Given the description of an element on the screen output the (x, y) to click on. 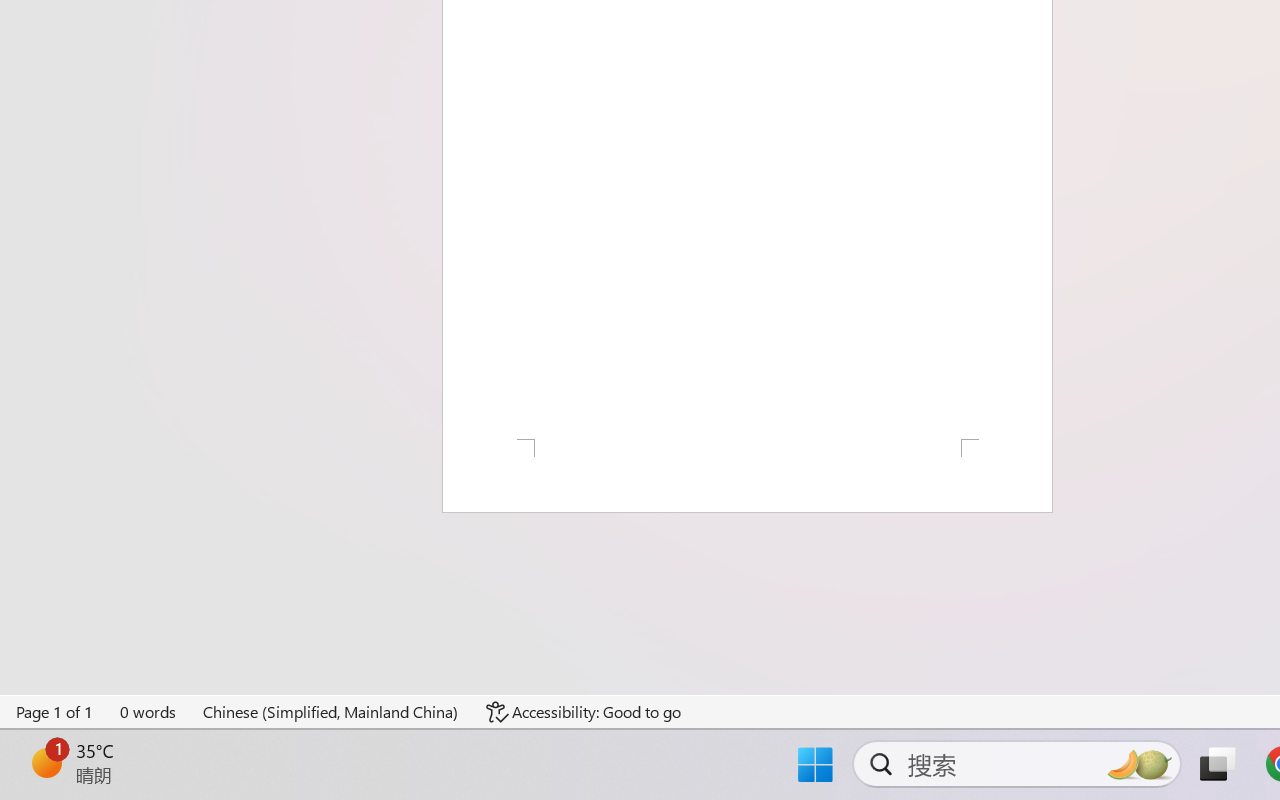
Language Chinese (Simplified, Mainland China) (331, 712)
